Given the description of an element on the screen output the (x, y) to click on. 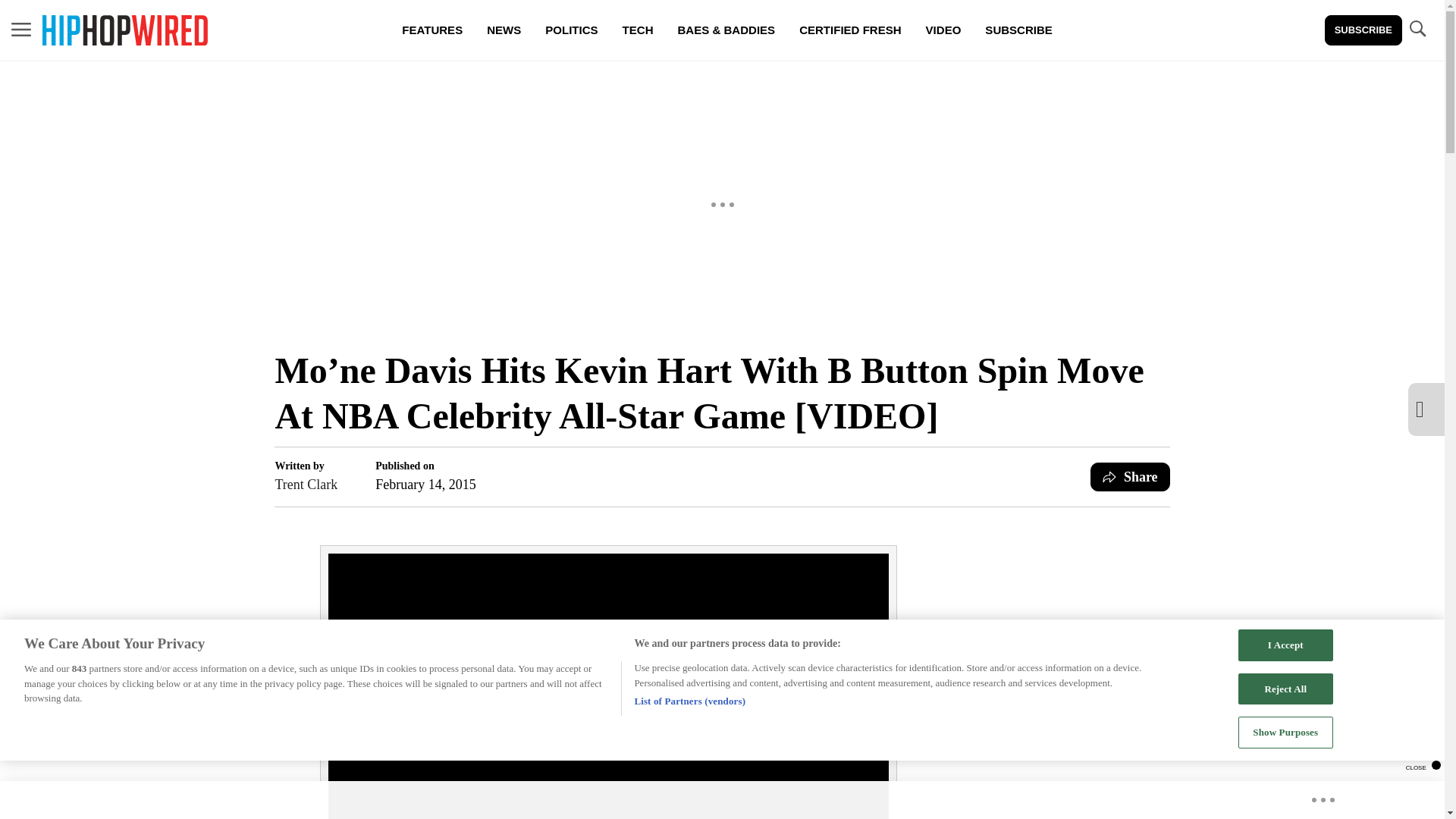
SUBSCRIBE (1018, 30)
FEATURES (432, 30)
SUBSCRIBE (1363, 30)
CERTIFIED FRESH (849, 30)
MENU (20, 29)
MENU (20, 30)
Trent Clark (306, 484)
TOGGLE SEARCH (1417, 28)
POLITICS (571, 30)
TECH (637, 30)
Share (1130, 476)
VIDEO (944, 30)
TOGGLE SEARCH (1417, 30)
NEWS (503, 30)
